Given the description of an element on the screen output the (x, y) to click on. 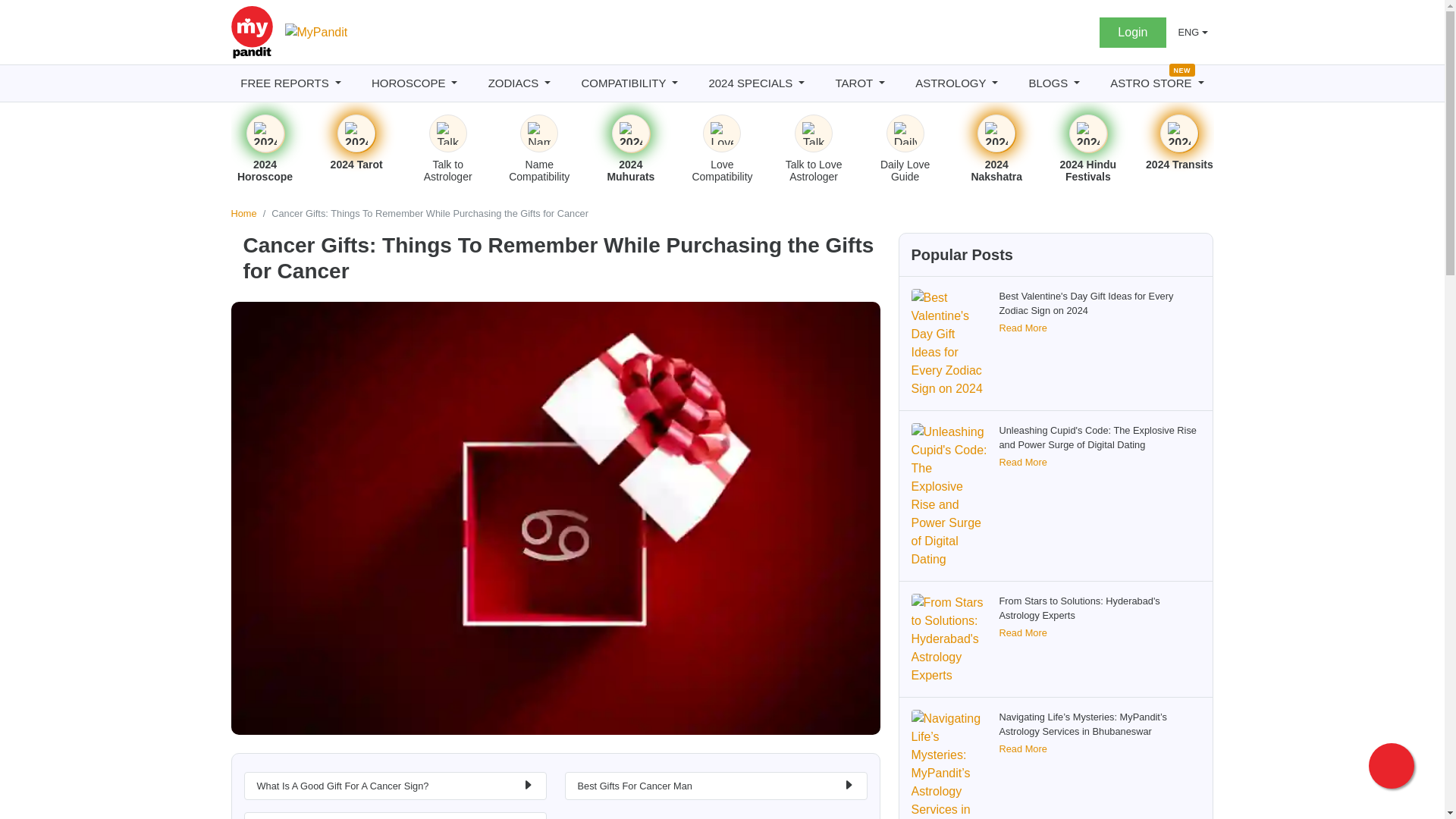
Login (1132, 31)
2024 Transits (1179, 133)
2024 Nakshatra (996, 133)
Daily Love Guide (905, 133)
Talk to Love Astrologer (813, 133)
2024 Horoscope (264, 133)
Love Compatibility (721, 133)
HOROSCOPE (414, 83)
2024 Hindu Festivals (1088, 133)
MyPandit (316, 32)
ENG (1192, 32)
Talk to Astrologer (448, 133)
ZODIACS (519, 83)
2024 Muhurats (631, 133)
Name Compatibility (538, 133)
